Given the description of an element on the screen output the (x, y) to click on. 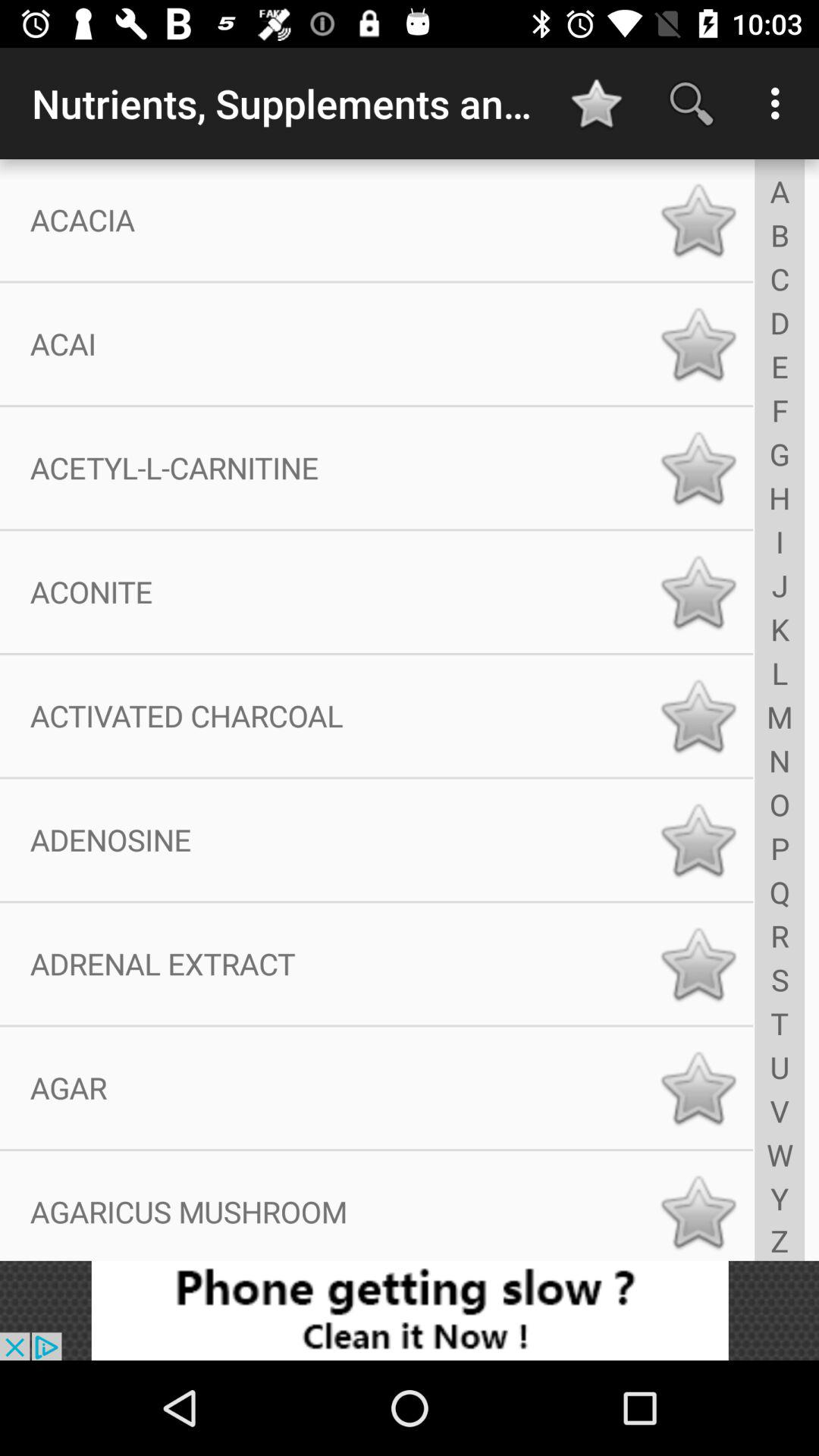
choose selection (697, 468)
